Given the description of an element on the screen output the (x, y) to click on. 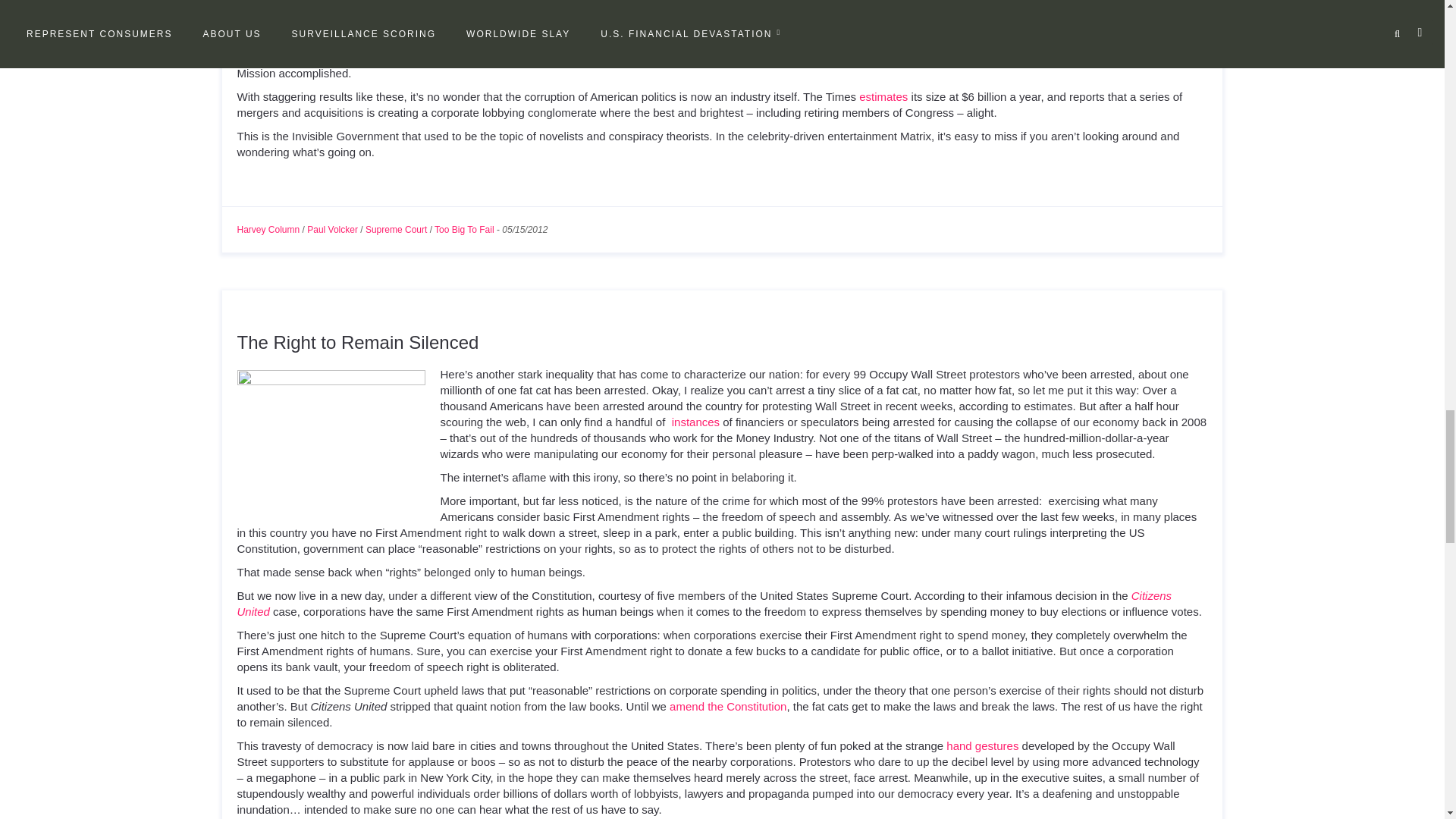
occupy-wall-street (330, 432)
estimates (883, 96)
loaded (855, 33)
